Given the description of an element on the screen output the (x, y) to click on. 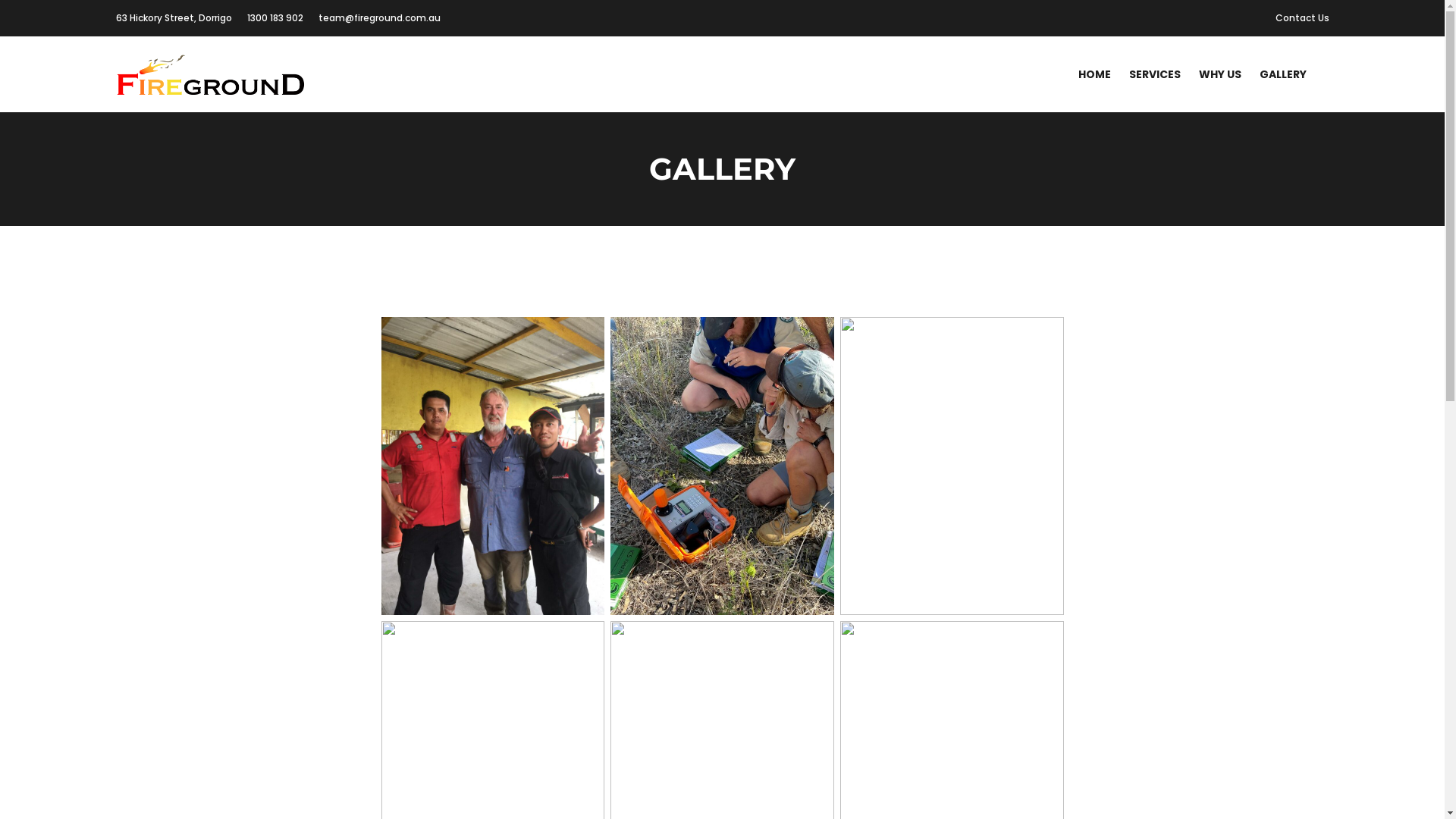
team@fireground.com.au Element type: text (379, 18)
Contact Us Element type: text (1302, 17)
GALLERY Element type: text (1281, 73)
SERVICES Element type: text (1153, 73)
WHY US Element type: text (1219, 73)
1300 183 902 Element type: text (275, 18)
HOME Element type: text (1094, 73)
